Given the description of an element on the screen output the (x, y) to click on. 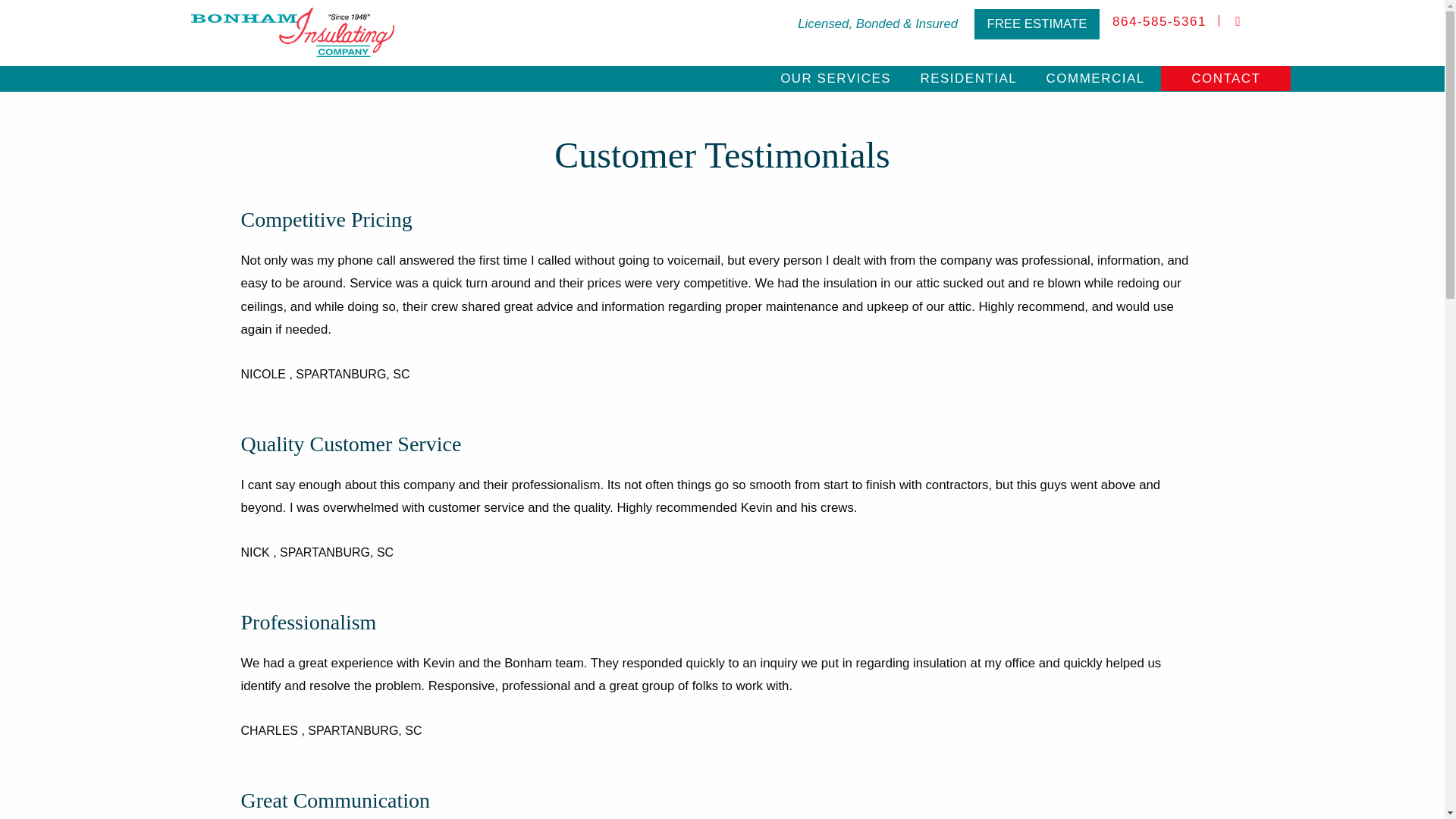
RESIDENTIAL (968, 78)
CONTACT (1225, 78)
864-585-5361 (1158, 21)
google (1237, 21)
OUR SERVICES (835, 78)
COMMERCIAL (1095, 78)
Bonham Insulating (292, 31)
FREE ESTIMATE (1037, 24)
